Given the description of an element on the screen output the (x, y) to click on. 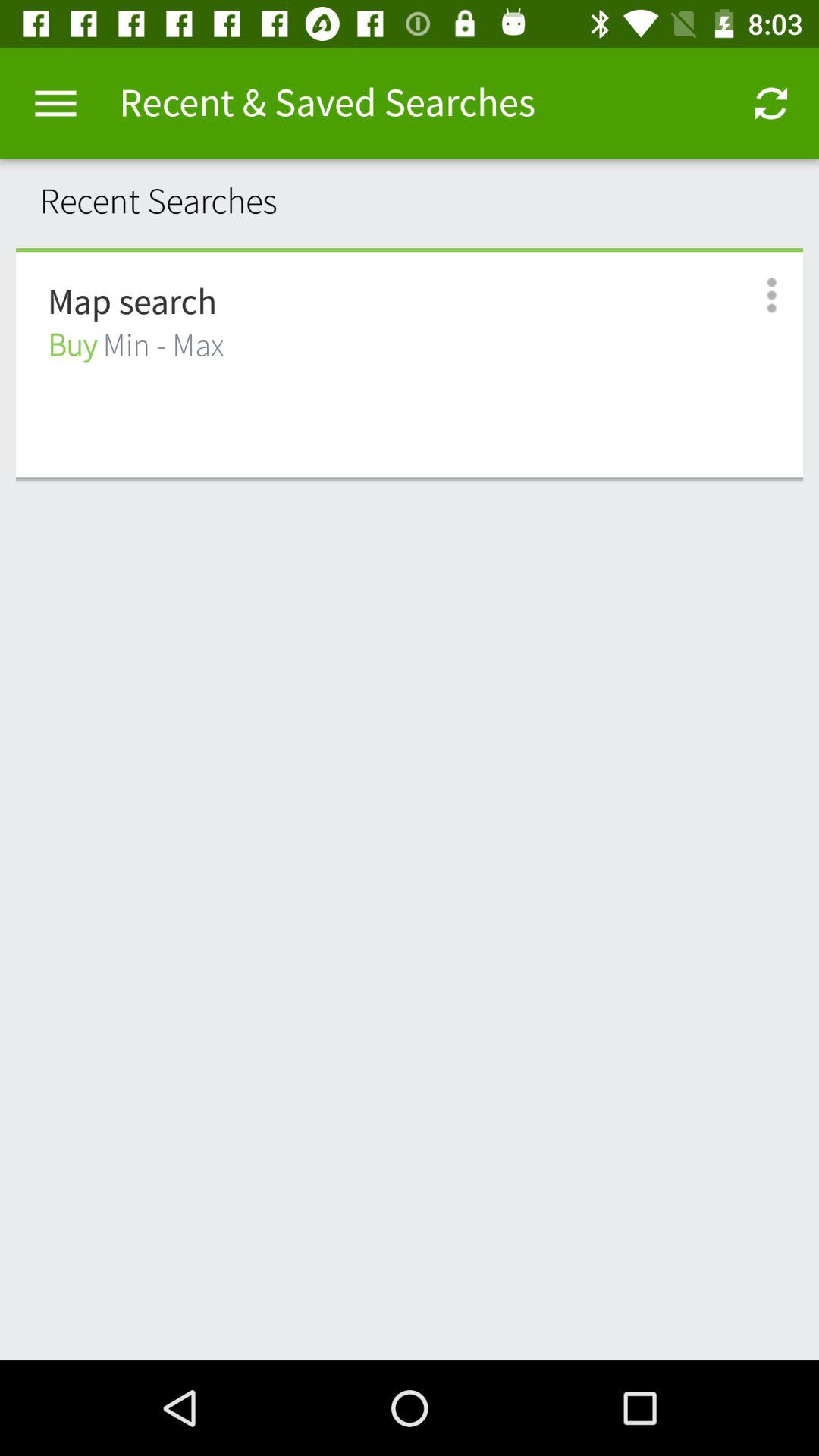
launch map search (131, 302)
